Given the description of an element on the screen output the (x, y) to click on. 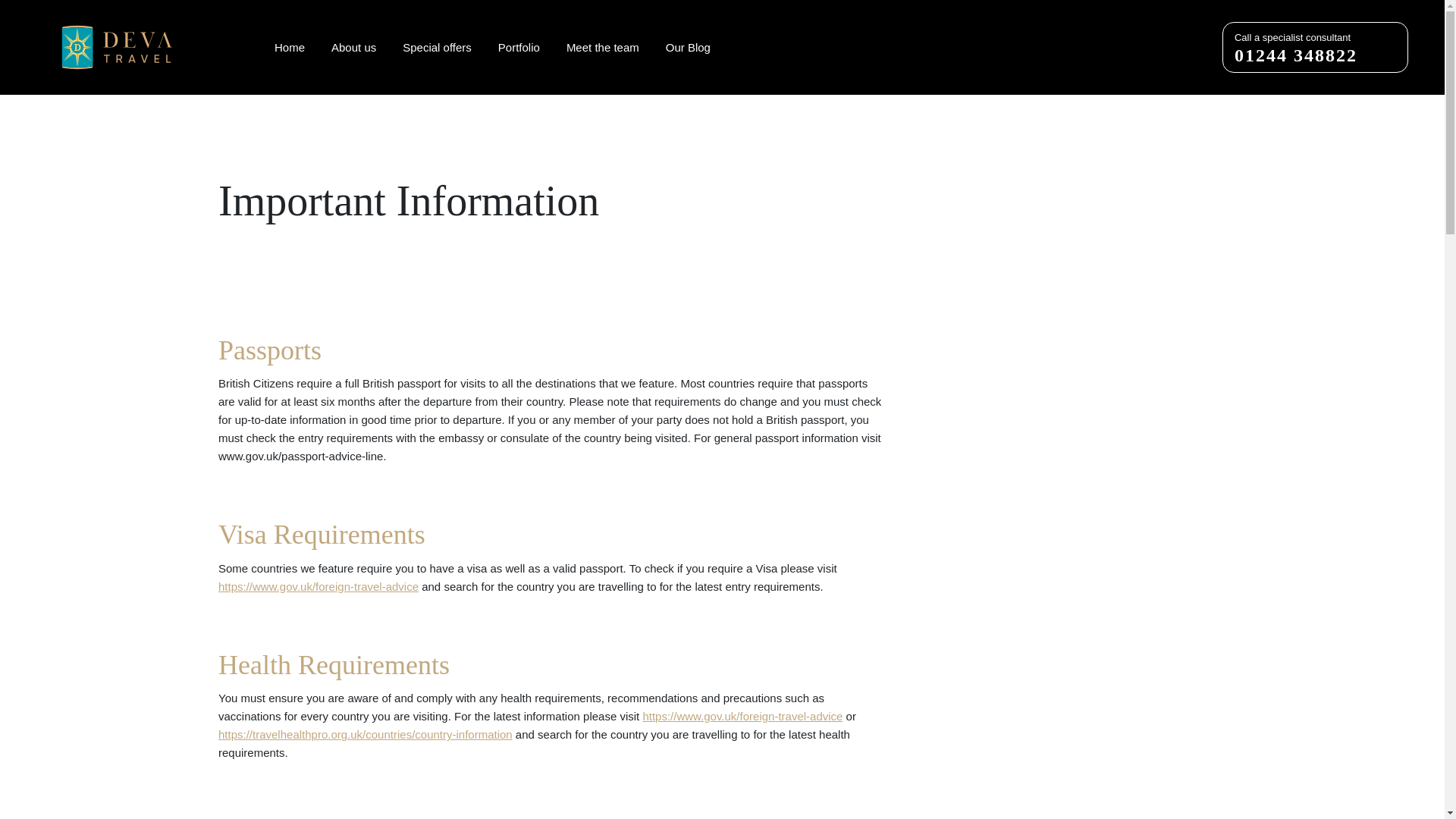
Home (1315, 47)
Portfolio (289, 47)
About us (518, 47)
Special offers (353, 47)
Meet the team (437, 47)
Our Blog (602, 47)
